Given the description of an element on the screen output the (x, y) to click on. 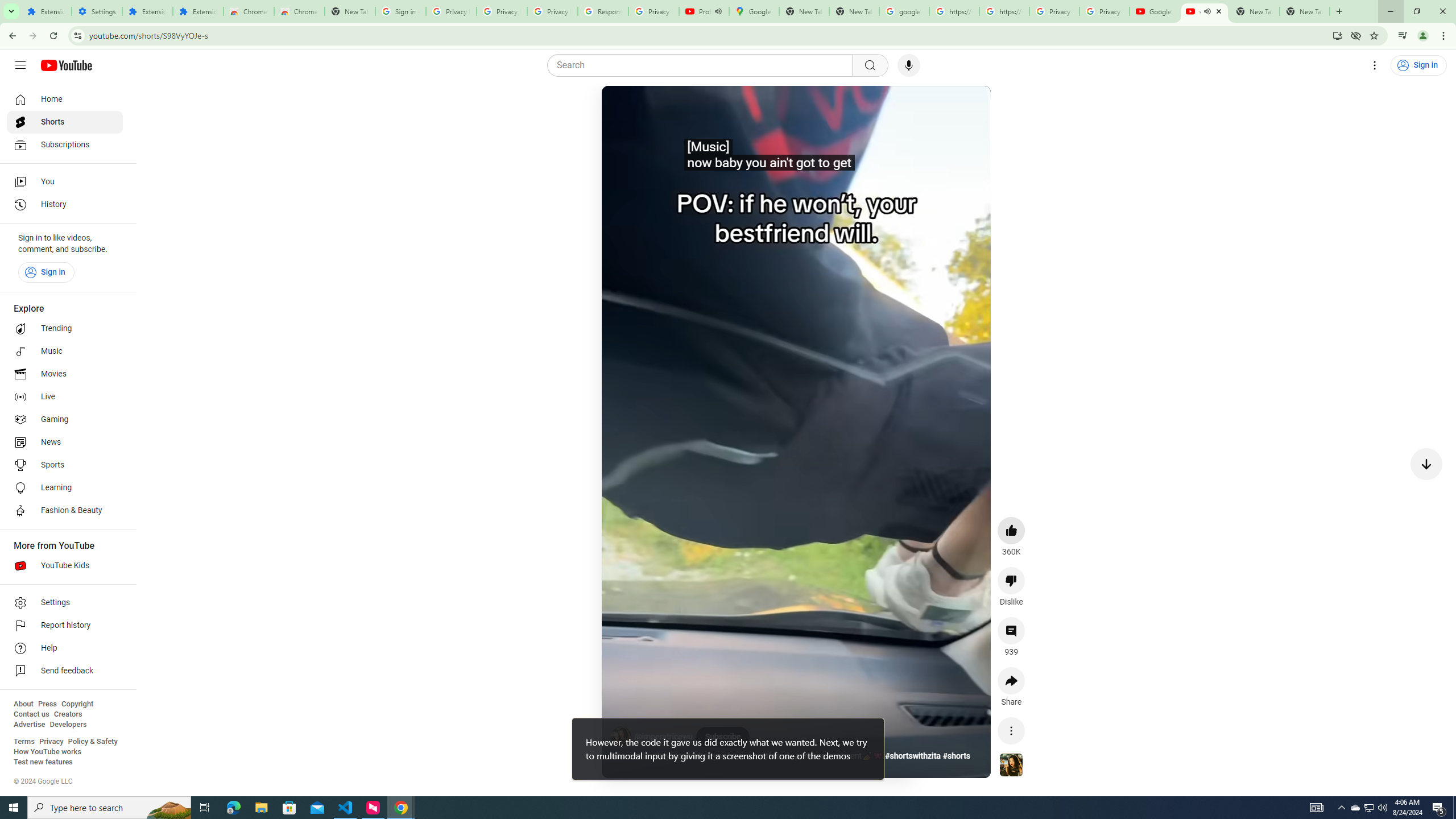
Dislike this video (1011, 580)
New Tab (1304, 11)
Sign in (45, 272)
Learning (64, 487)
Install YouTube (1336, 35)
@imperatricewu (664, 736)
New Tab (350, 11)
New Tab (1338, 11)
#shortswithzita (911, 756)
Extensions (146, 11)
More actions (1011, 730)
Sign in - Google Accounts (399, 11)
Guide (20, 65)
Search tabs (10, 11)
Settings (64, 602)
